Given the description of an element on the screen output the (x, y) to click on. 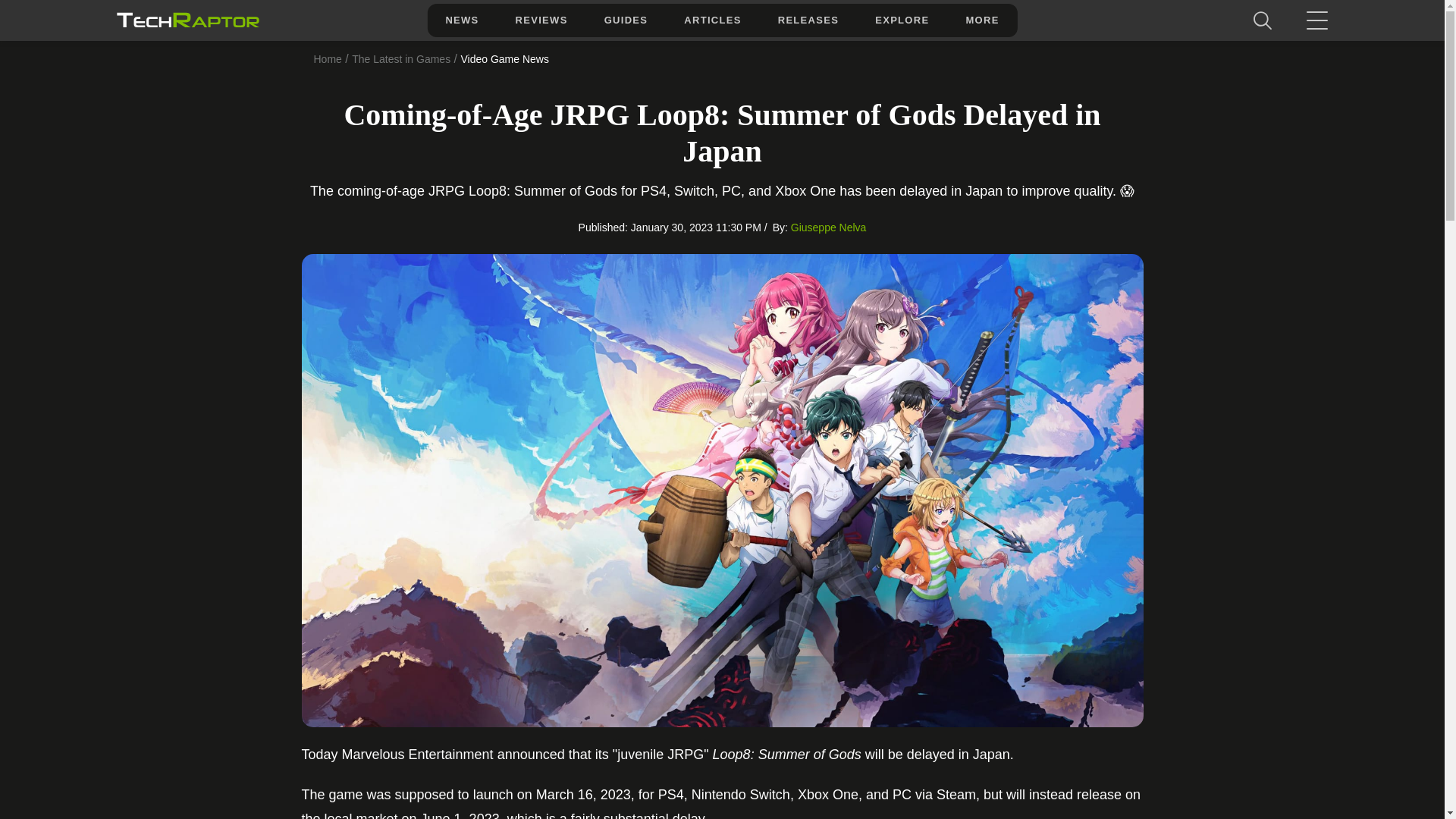
RELEASES (807, 20)
TechRaptor Home (187, 20)
GUIDES (626, 20)
ARTICLES (711, 20)
NEWS (461, 20)
REVIEWS (541, 20)
